Given the description of an element on the screen output the (x, y) to click on. 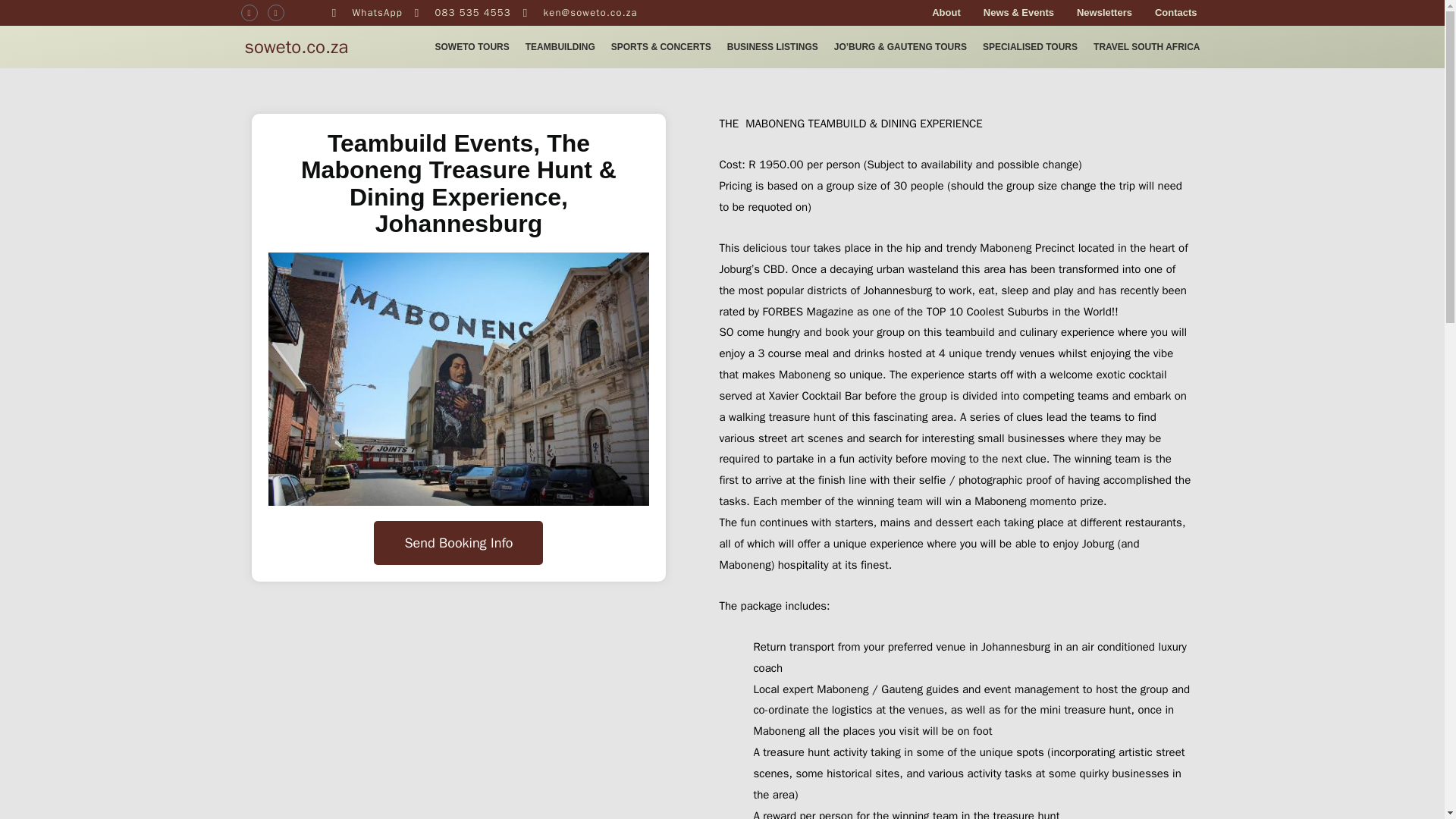
TRAVEL SOUTH AFRICA (1146, 46)
BUSINESS LISTINGS (772, 46)
SOWETO TOURS (472, 46)
TEAMBUILDING (560, 46)
083 535 4553 (462, 13)
soweto.co.za (295, 47)
Send Booking Info (458, 542)
Contacts (1175, 12)
WhatsApp (367, 13)
About (945, 12)
Newsletters (1104, 12)
SPECIALISED TOURS (1029, 46)
